Given the description of an element on the screen output the (x, y) to click on. 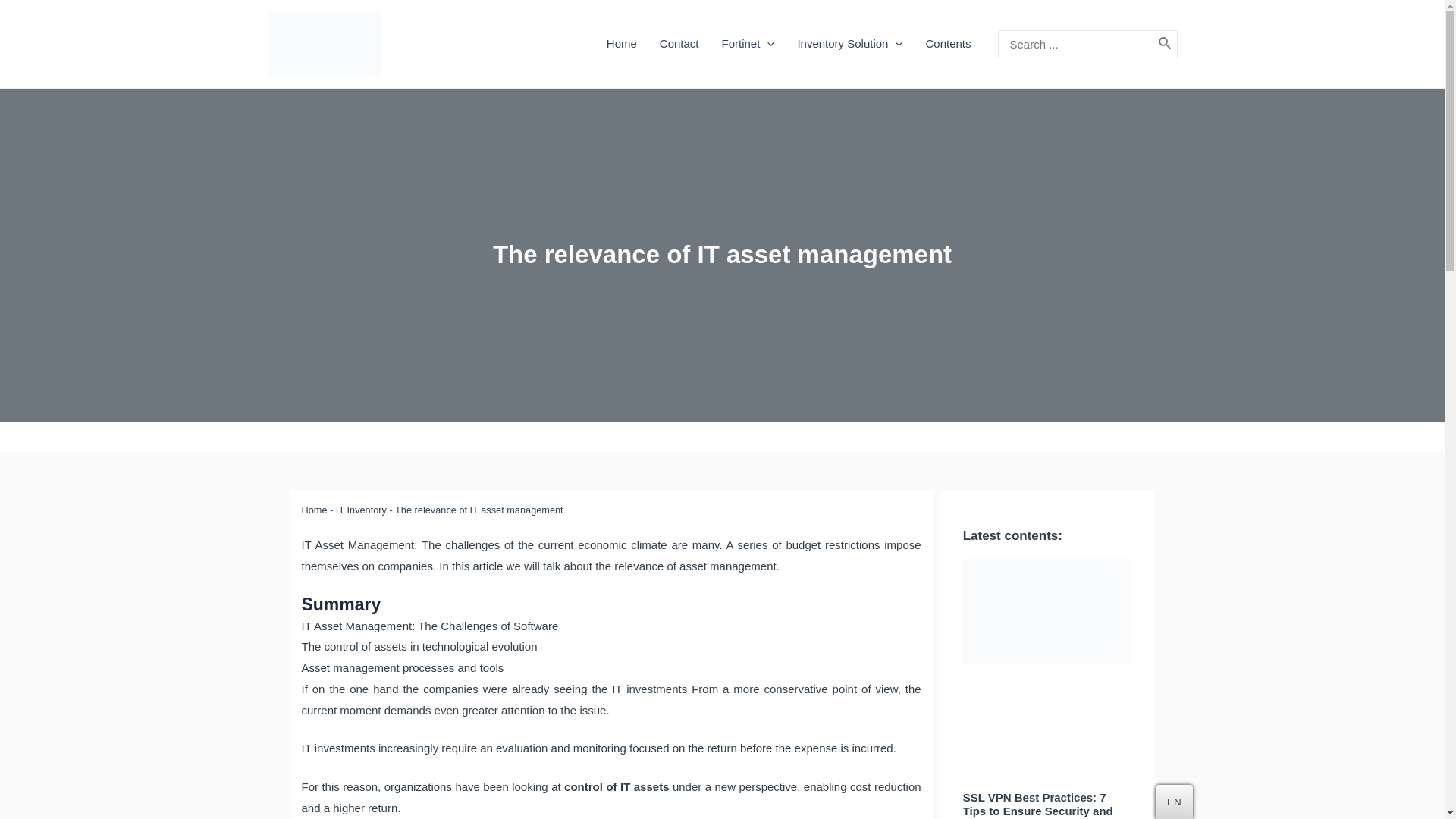
Inventory Solution (850, 43)
Contents (947, 43)
Fortinet (748, 43)
Contact (678, 43)
